Given the description of an element on the screen output the (x, y) to click on. 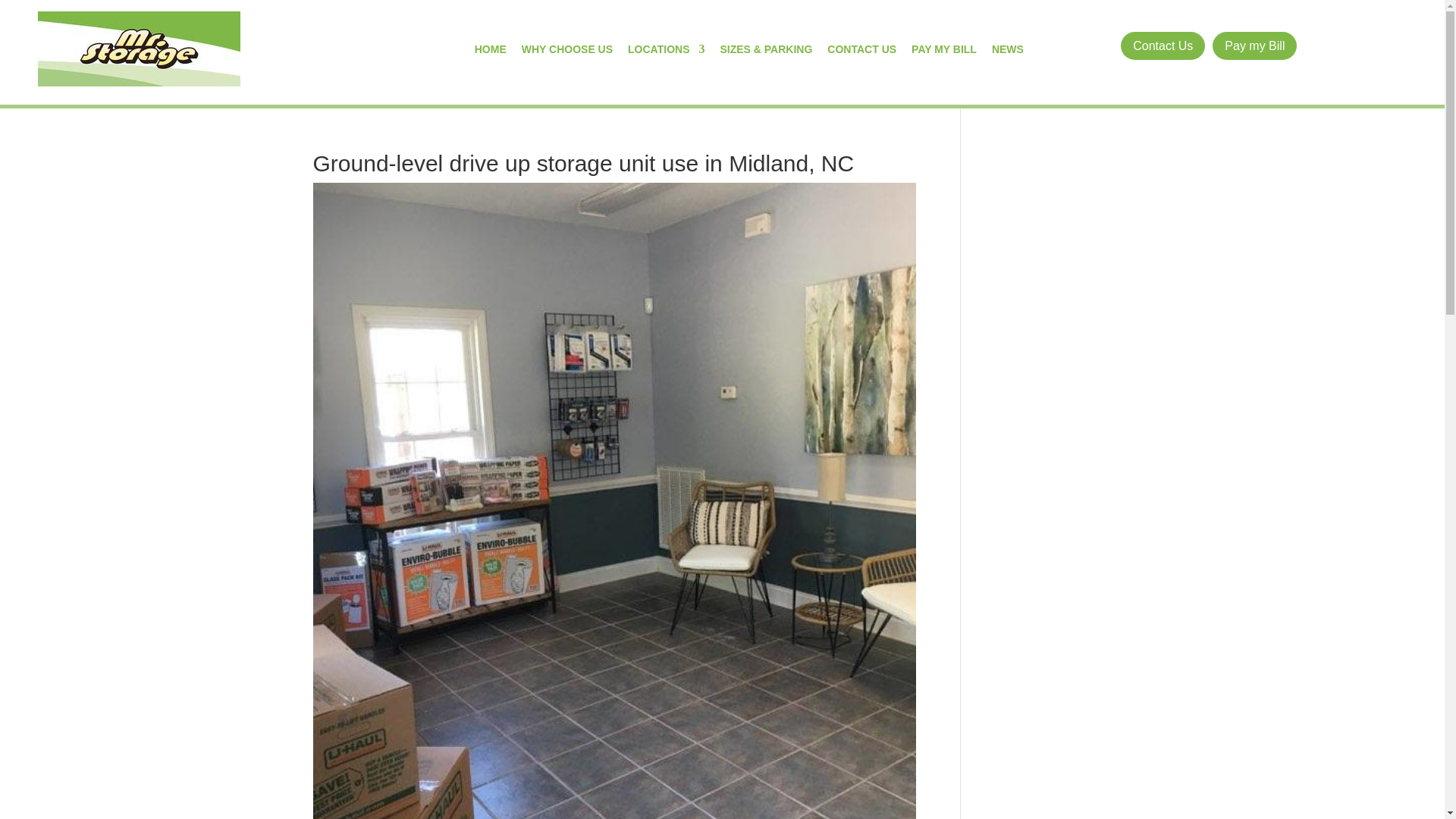
HOME (490, 48)
LOCATIONS (665, 48)
WHY CHOOSE US (566, 48)
Contact Us (1163, 45)
NEWS (1007, 48)
CONTACT US (861, 48)
Pay my Bill (1254, 45)
PAY MY BILL (943, 48)
